Given the description of an element on the screen output the (x, y) to click on. 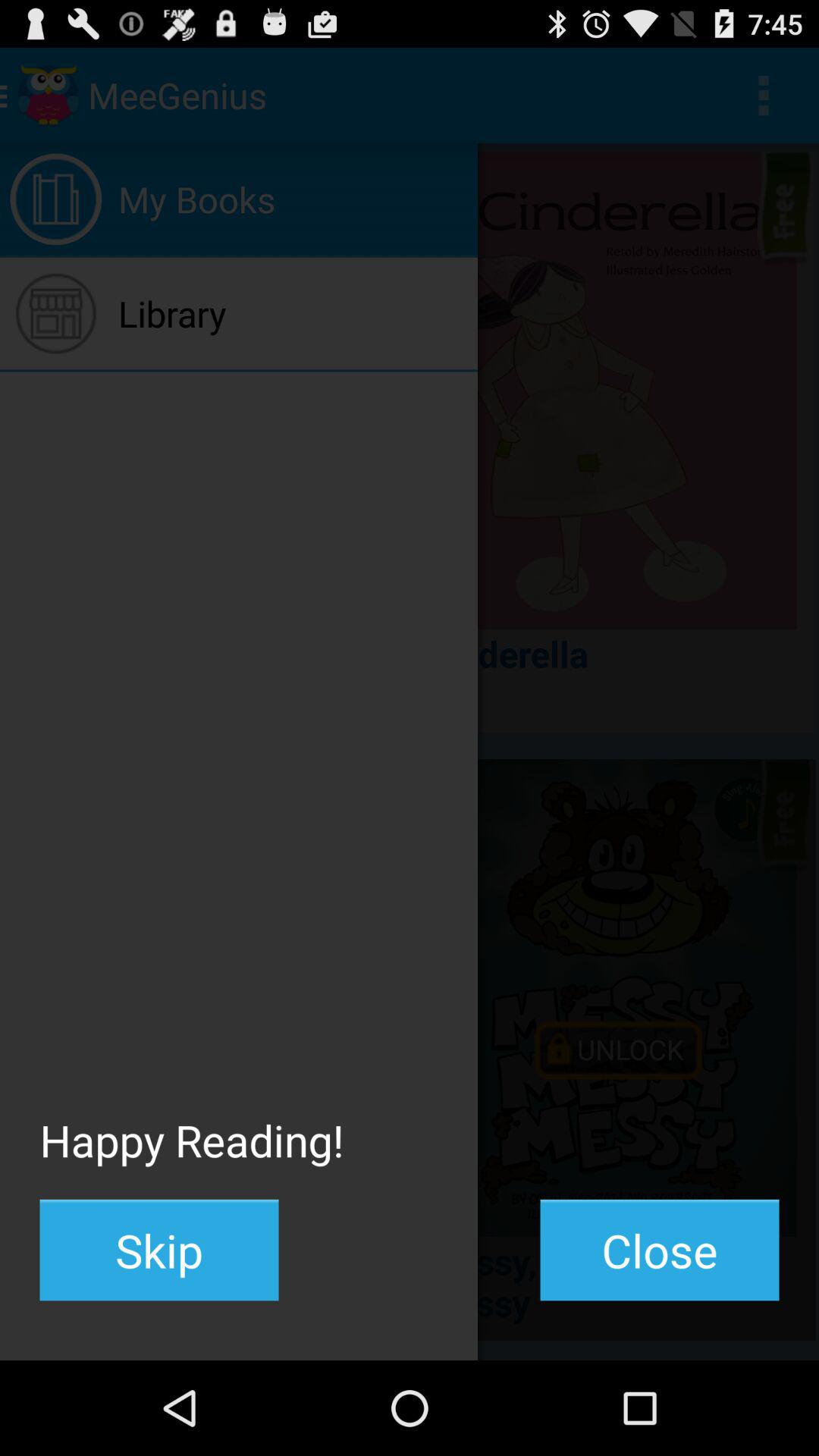
click the skip item (158, 1249)
